Given the description of an element on the screen output the (x, y) to click on. 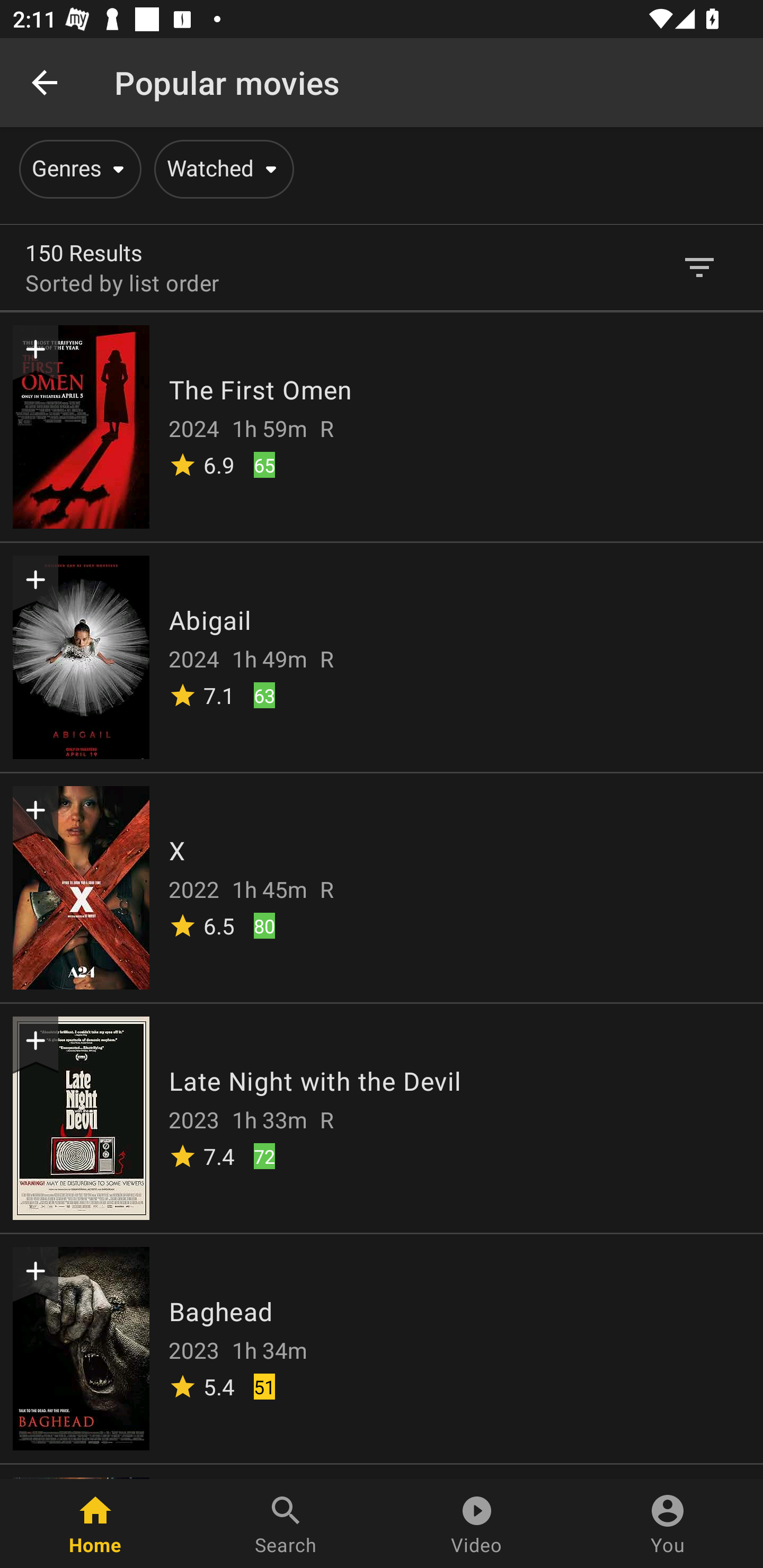
Genres (77, 169)
Watched (220, 169)
The First Omen 2024 1h 59m R 6.9 65 (381, 425)
Abigail 2024 1h 49m R 7.1 63 (381, 655)
X 2022 1h 45m R 6.5 80 (381, 886)
Late Night with the Devil 2023 1h 33m R 7.4 72 (381, 1116)
Baghead 2023 1h 34m 5.4 51 (381, 1347)
Search (285, 1523)
Video (476, 1523)
You (667, 1523)
